Given the description of an element on the screen output the (x, y) to click on. 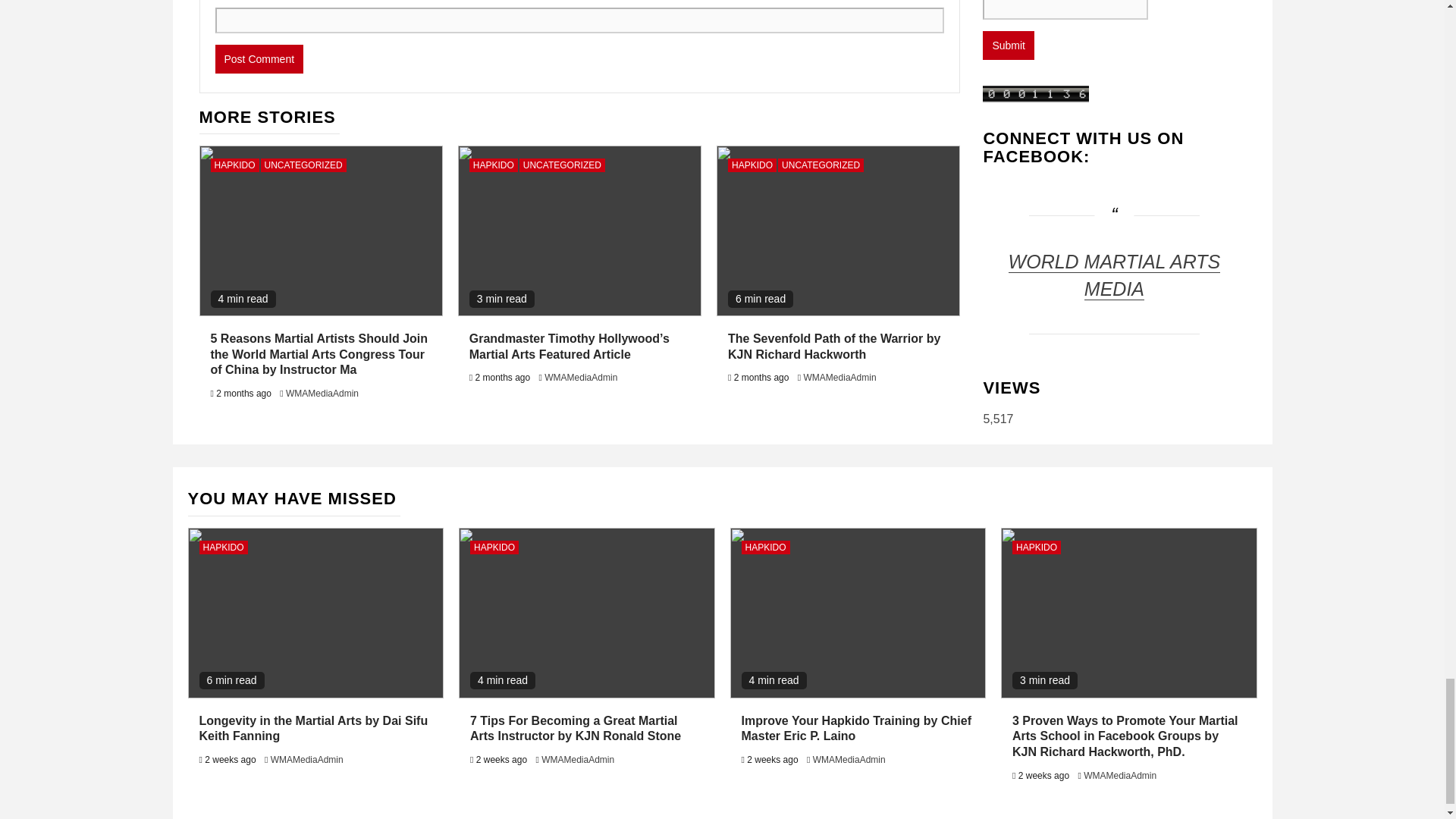
HAPKIDO (235, 164)
HAPKIDO (493, 164)
Post Comment (259, 59)
WMAMediaAdmin (580, 377)
WMAMediaAdmin (321, 393)
UNCATEGORIZED (303, 164)
UNCATEGORIZED (562, 164)
Post Comment (259, 59)
